Given the description of an element on the screen output the (x, y) to click on. 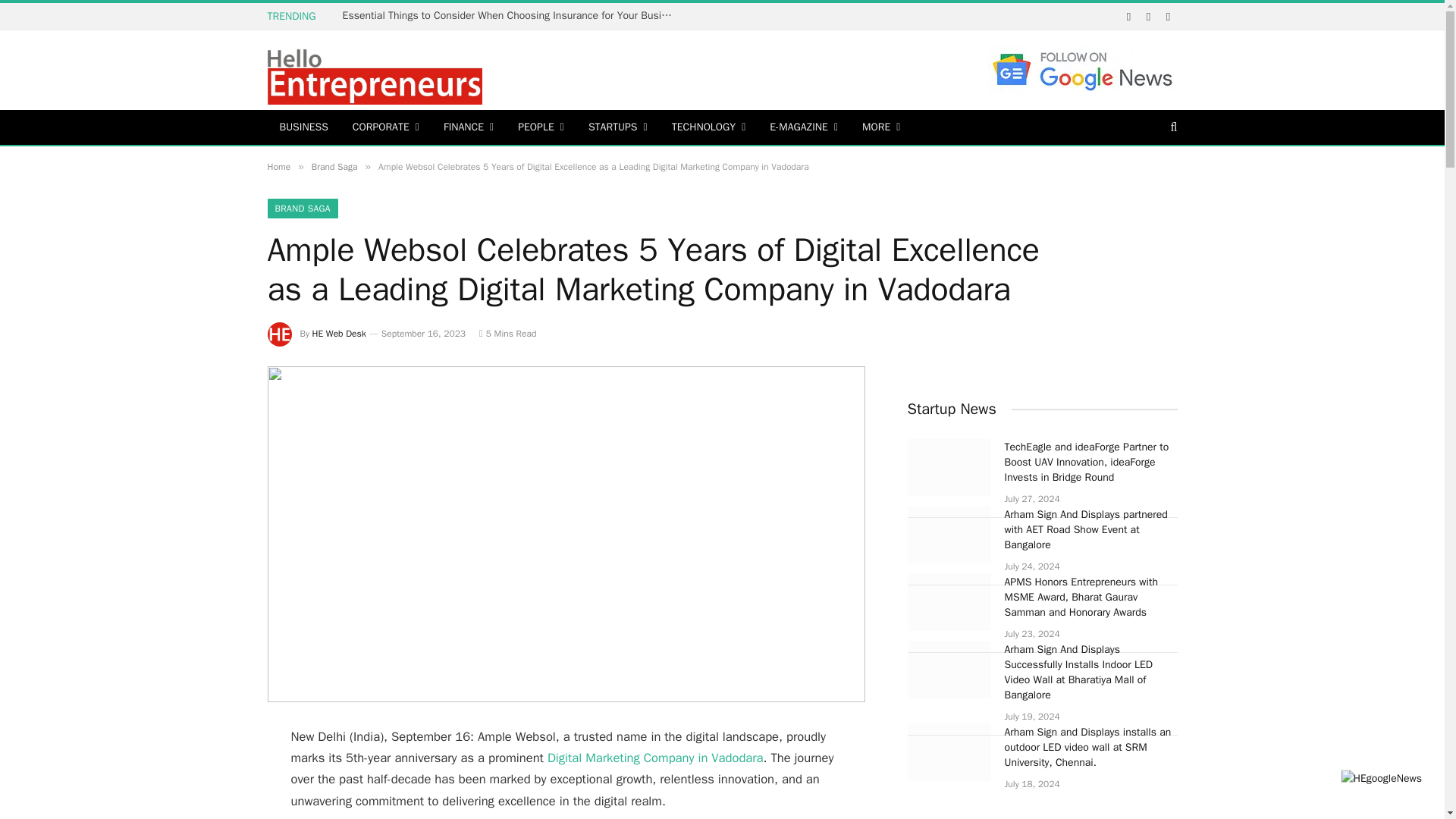
BUSINESS (302, 126)
FINANCE (467, 126)
PEOPLE (540, 126)
CORPORATE (385, 126)
Hello Entrepreneurs (373, 72)
